Given the description of an element on the screen output the (x, y) to click on. 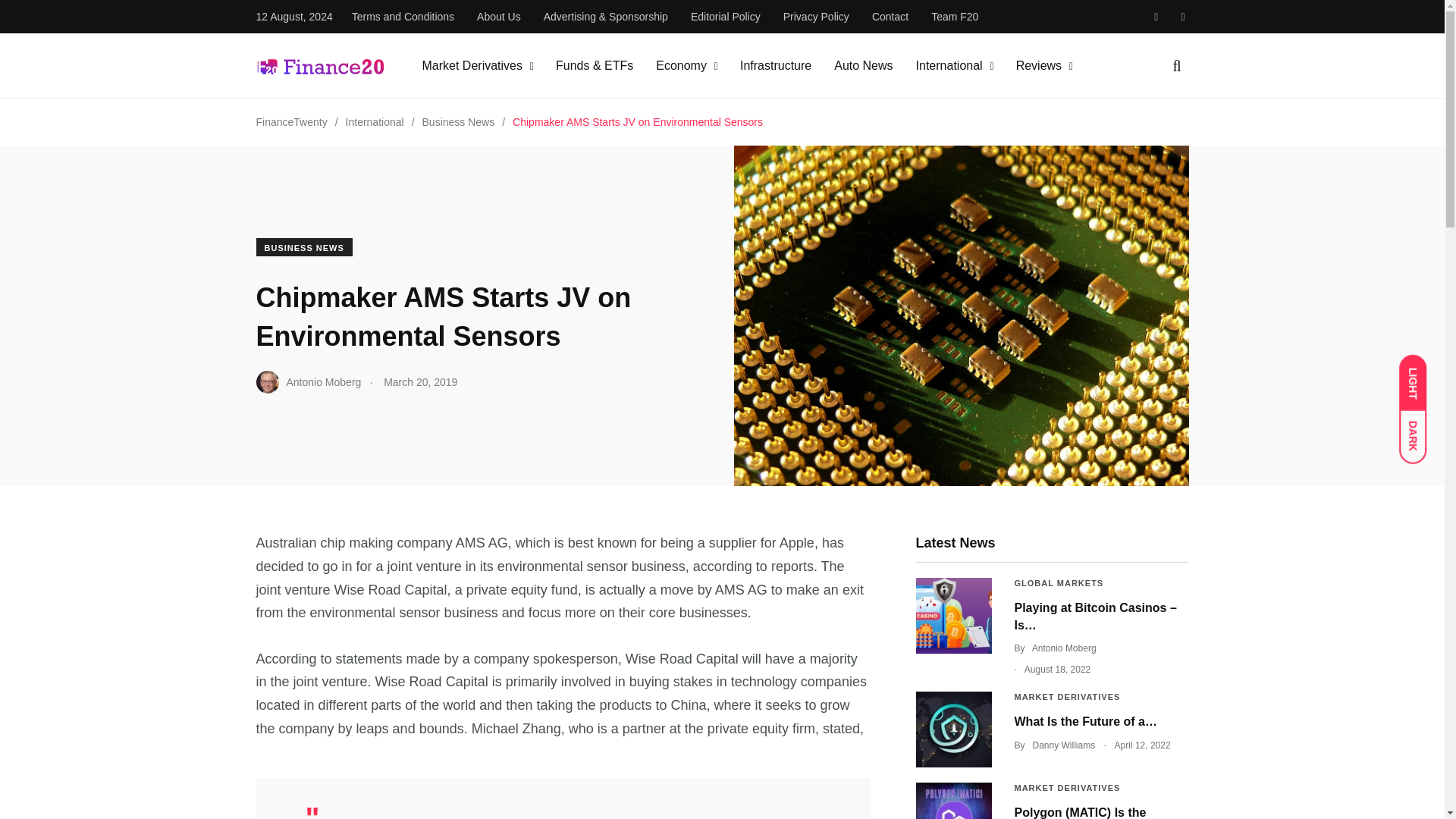
FinanceTwenty (291, 121)
Auto News (863, 65)
Dark Mode (1419, 428)
Market Derivatives (471, 65)
Team F20 (954, 16)
Antonio Moberg (308, 382)
Privacy Policy (815, 16)
Business News (458, 121)
Go to the International Category archives. (375, 121)
Editorial Policy (725, 16)
